Given the description of an element on the screen output the (x, y) to click on. 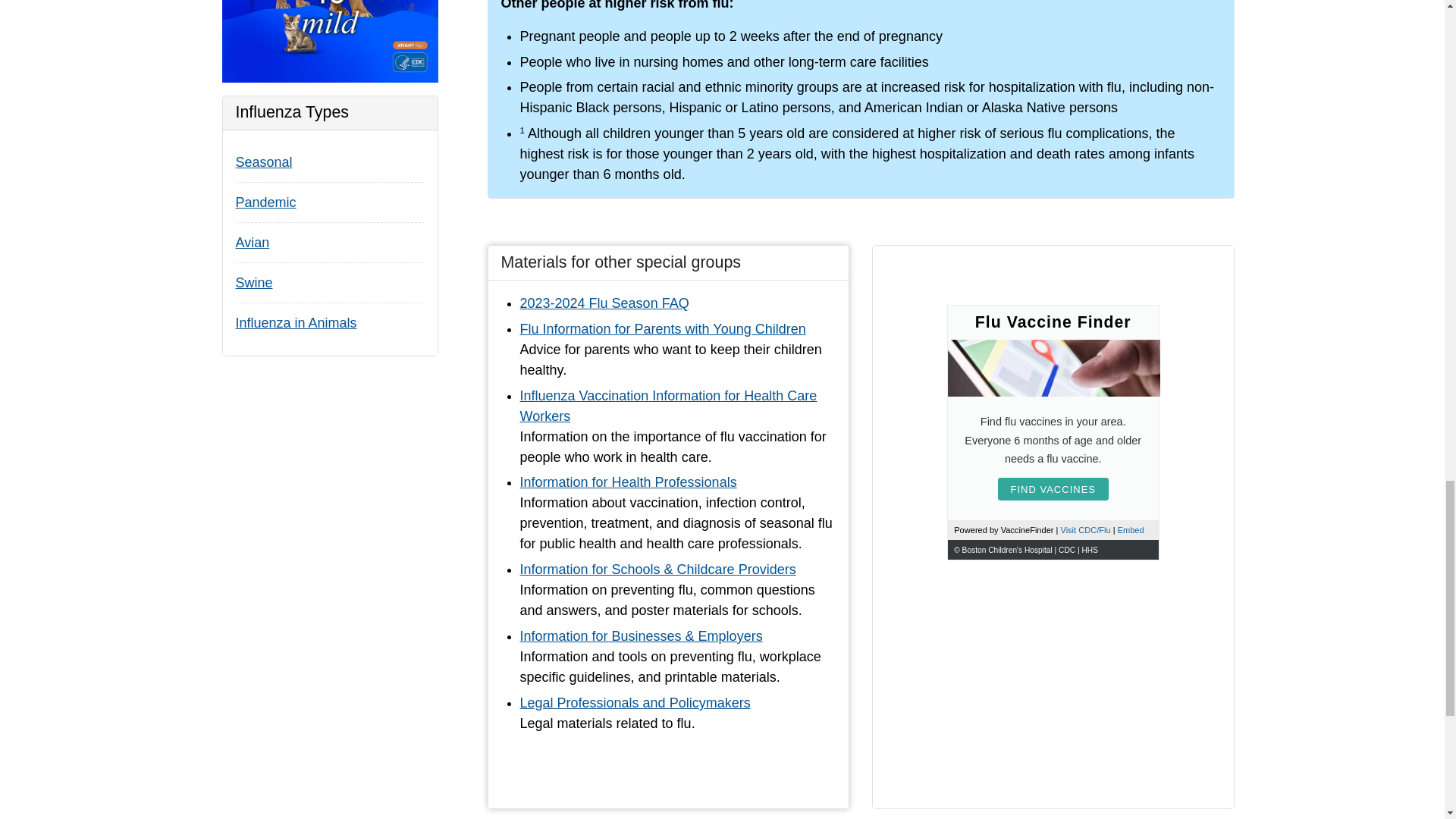
A flu vaccine can take flu from wild to mild (329, 41)
